Given the description of an element on the screen output the (x, y) to click on. 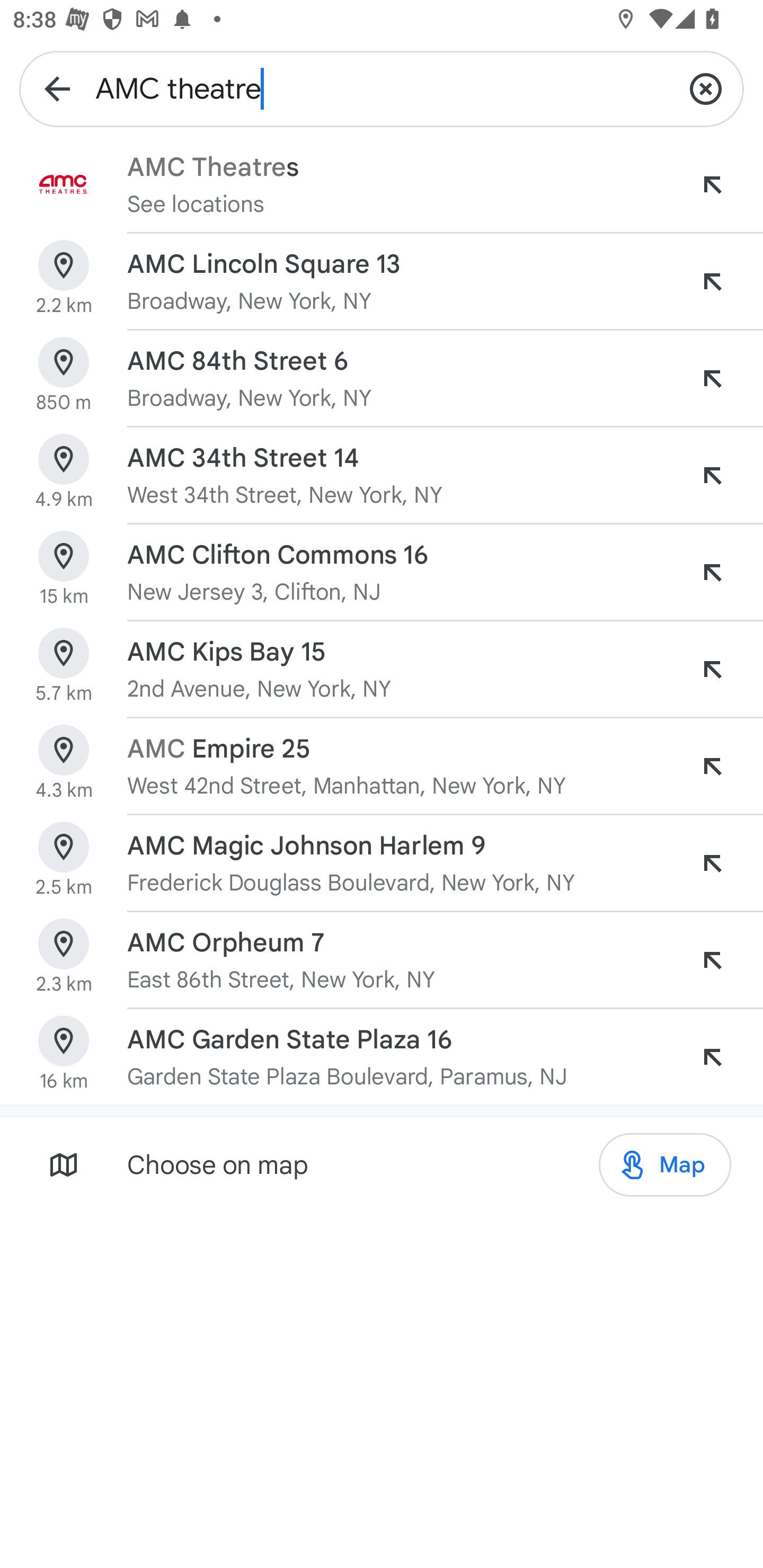
Navigate up (57, 88)
AMC theatre (381, 88)
Clear (705, 88)
Choose on map Map Map Map (381, 1164)
Map Map Map (664, 1164)
